Given the description of an element on the screen output the (x, y) to click on. 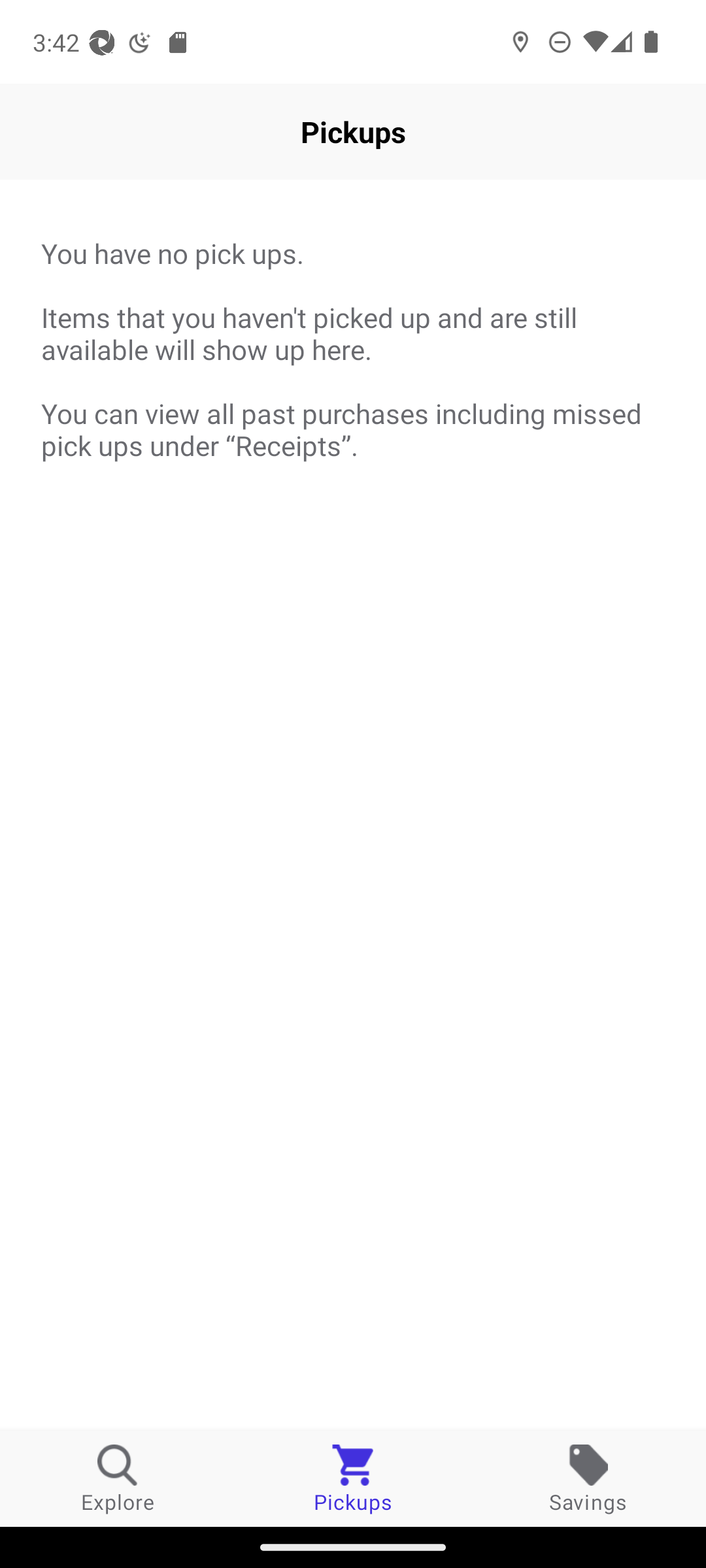
Explore (117, 1478)
Savings (588, 1478)
